Given the description of an element on the screen output the (x, y) to click on. 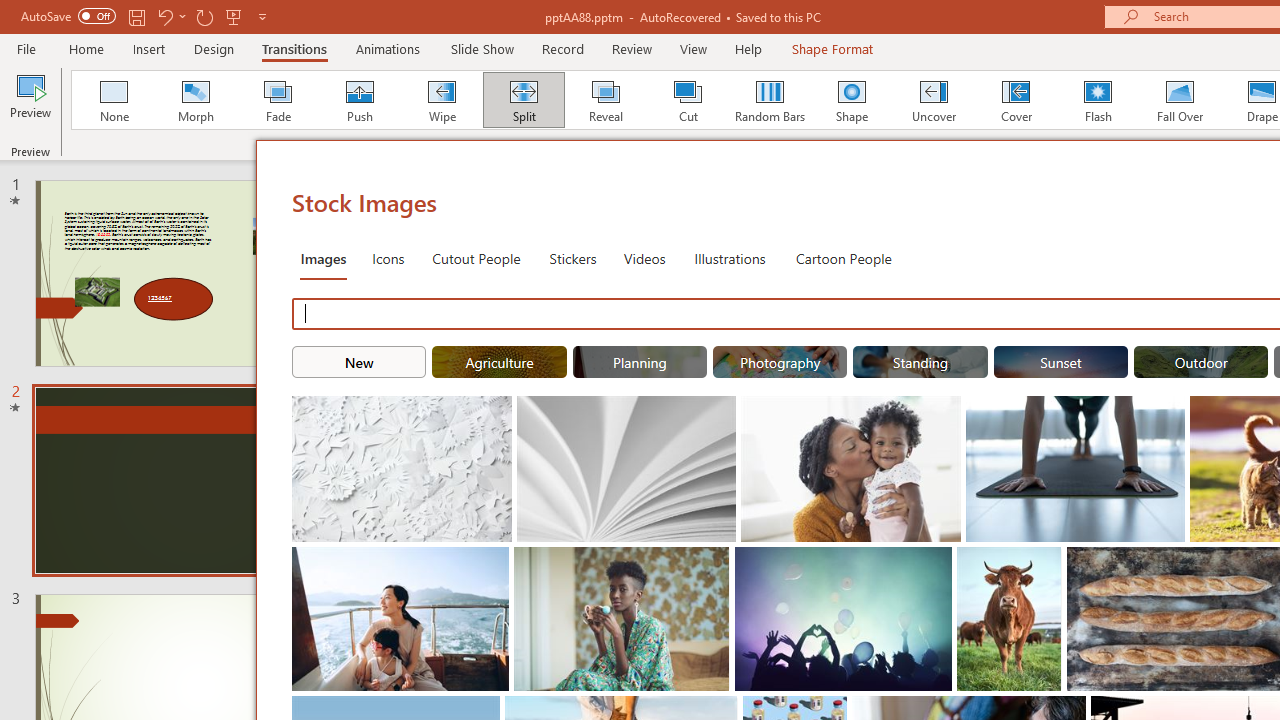
Stickers (573, 258)
"Sunset" Stock Images. (1060, 362)
Thumbnail (1046, 561)
"New" Stock Images. (358, 362)
Wipe (441, 100)
Flash (1098, 100)
Split (523, 100)
"Agriculture" Stock Images. (499, 362)
Shape (852, 100)
Videos (644, 258)
